Given the description of an element on the screen output the (x, y) to click on. 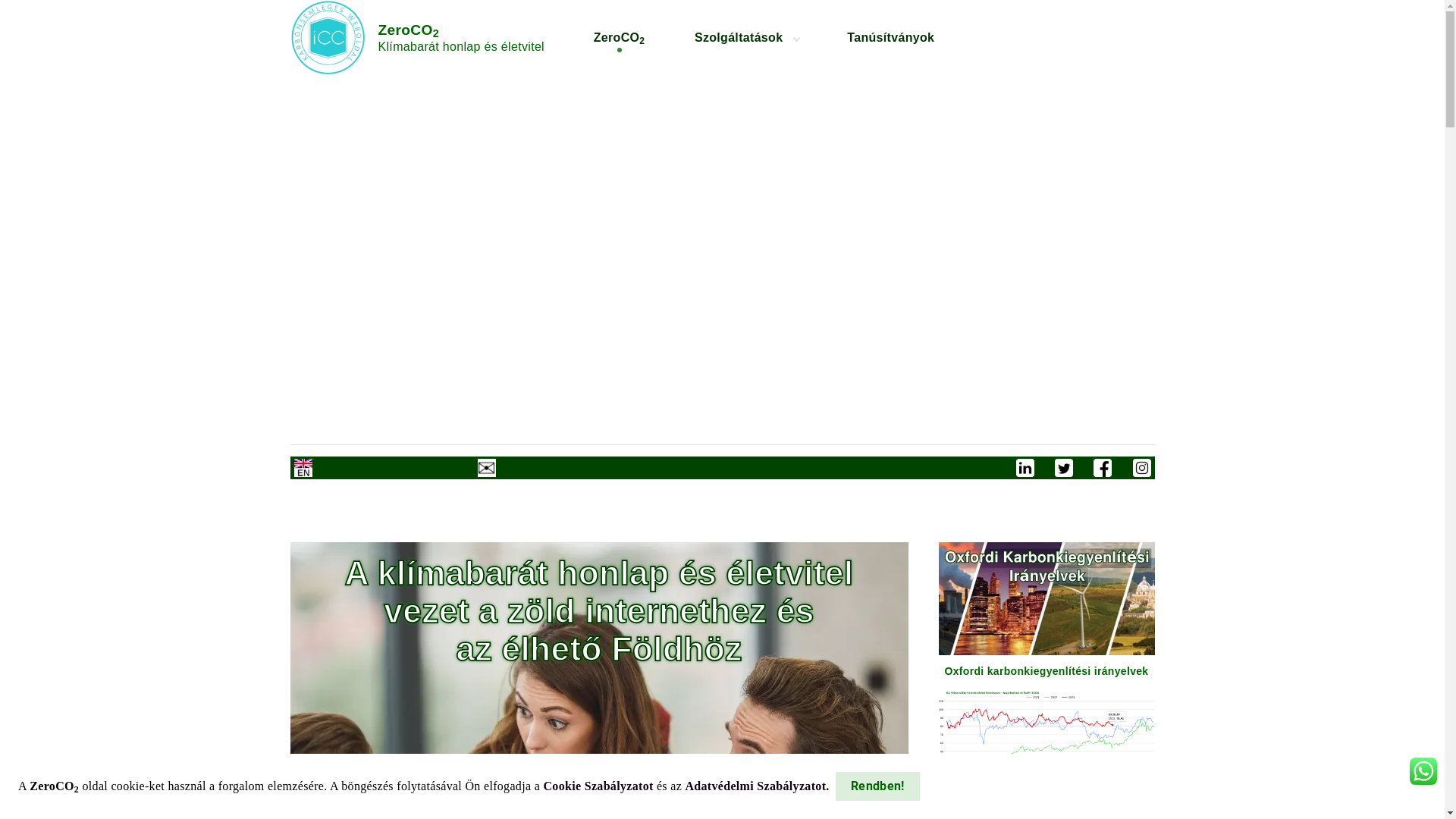
 ZeroCO2  Element type: text (618, 37)
Rendben! Element type: text (877, 785)
